Given the description of an element on the screen output the (x, y) to click on. 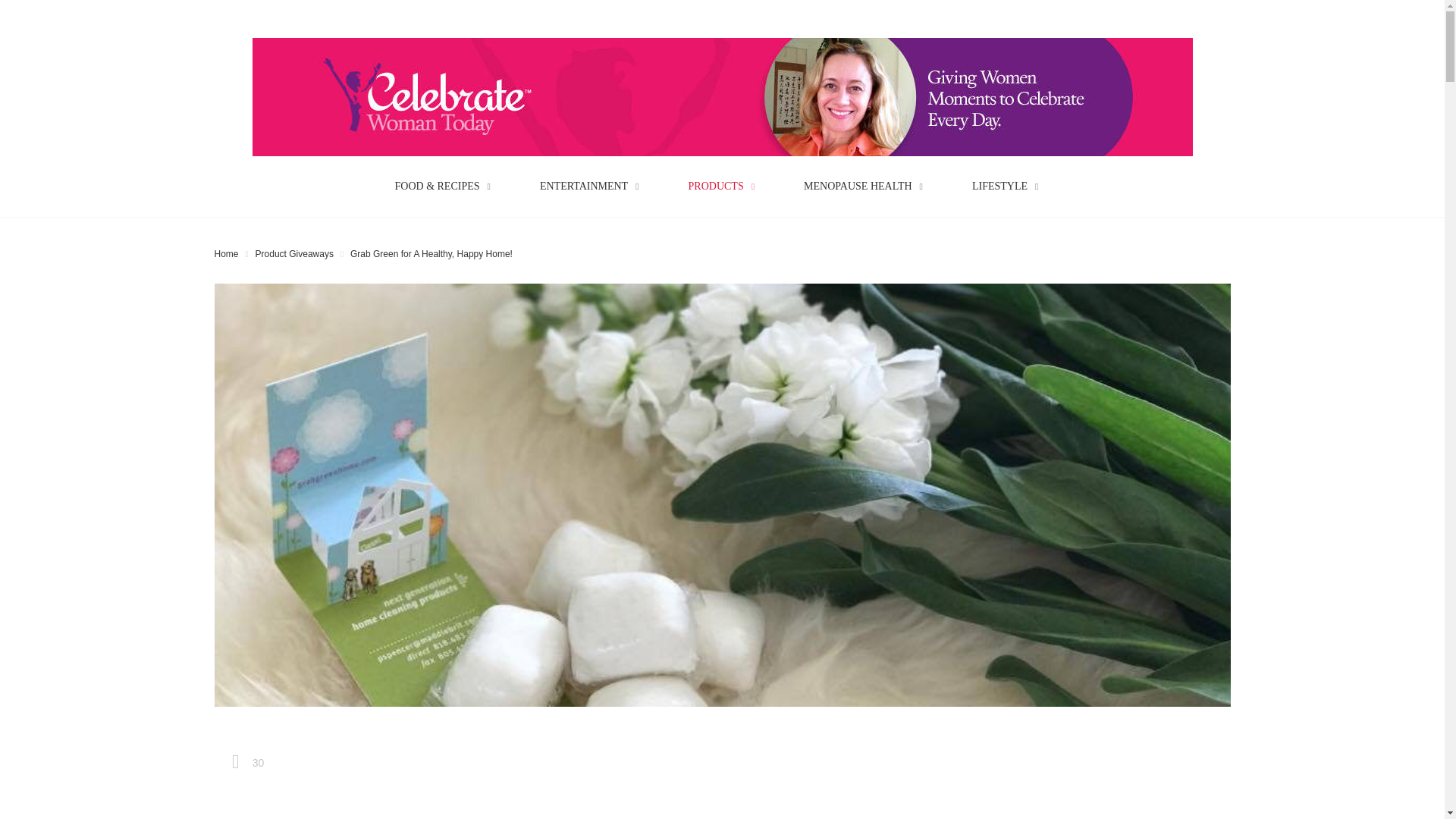
ENTERTAINMENT (595, 186)
MENOPAUSE HEALTH (868, 186)
PRODUCTS (727, 186)
